Given the description of an element on the screen output the (x, y) to click on. 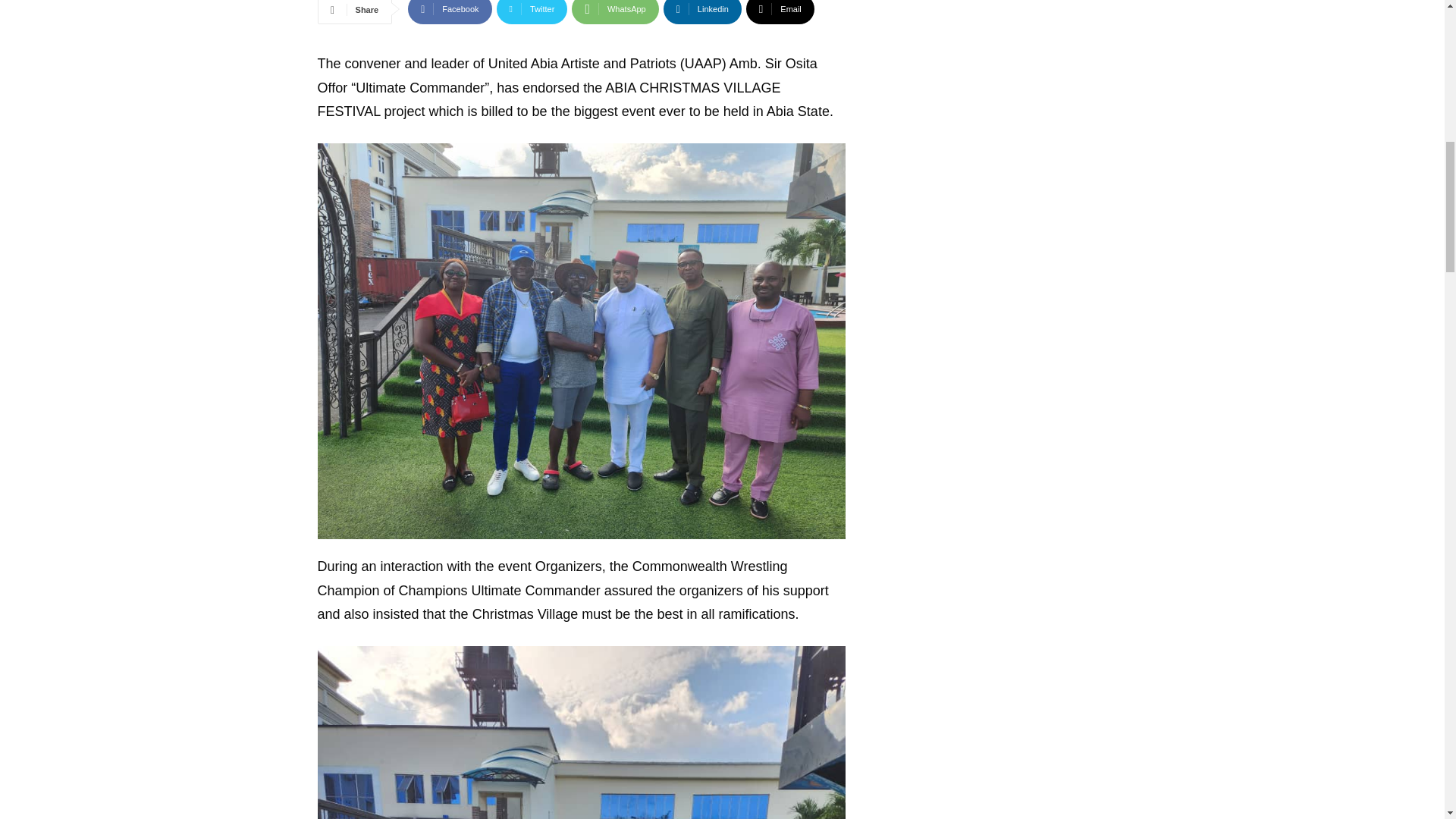
Facebook (449, 12)
Email (779, 12)
Facebook (449, 12)
Twitter (531, 12)
Twitter (531, 12)
WhatsApp (615, 12)
Email (779, 12)
Linkedin (702, 12)
Linkedin (702, 12)
WhatsApp (615, 12)
